Given the description of an element on the screen output the (x, y) to click on. 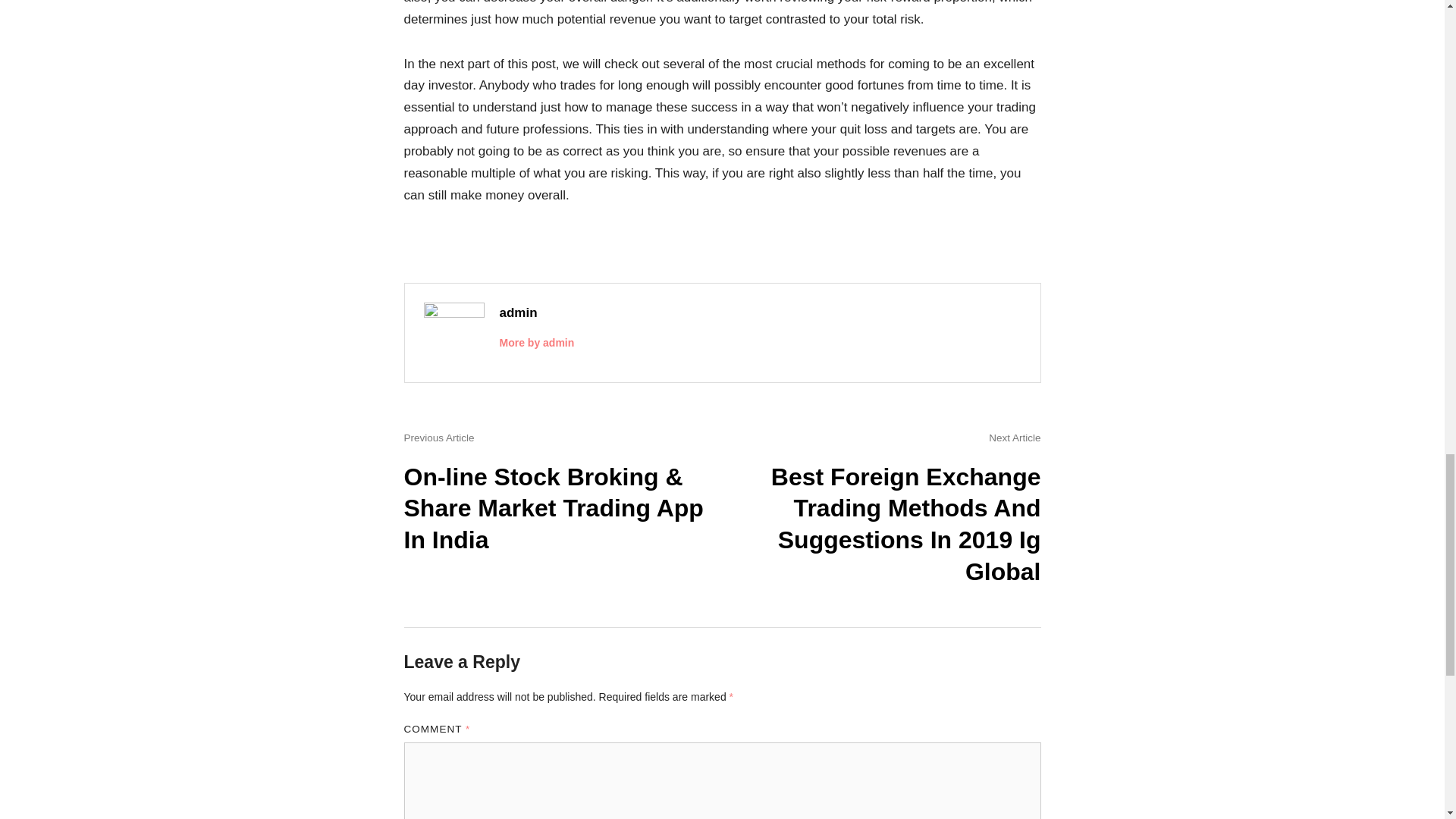
More by admin (536, 342)
admin (518, 312)
